Given the description of an element on the screen output the (x, y) to click on. 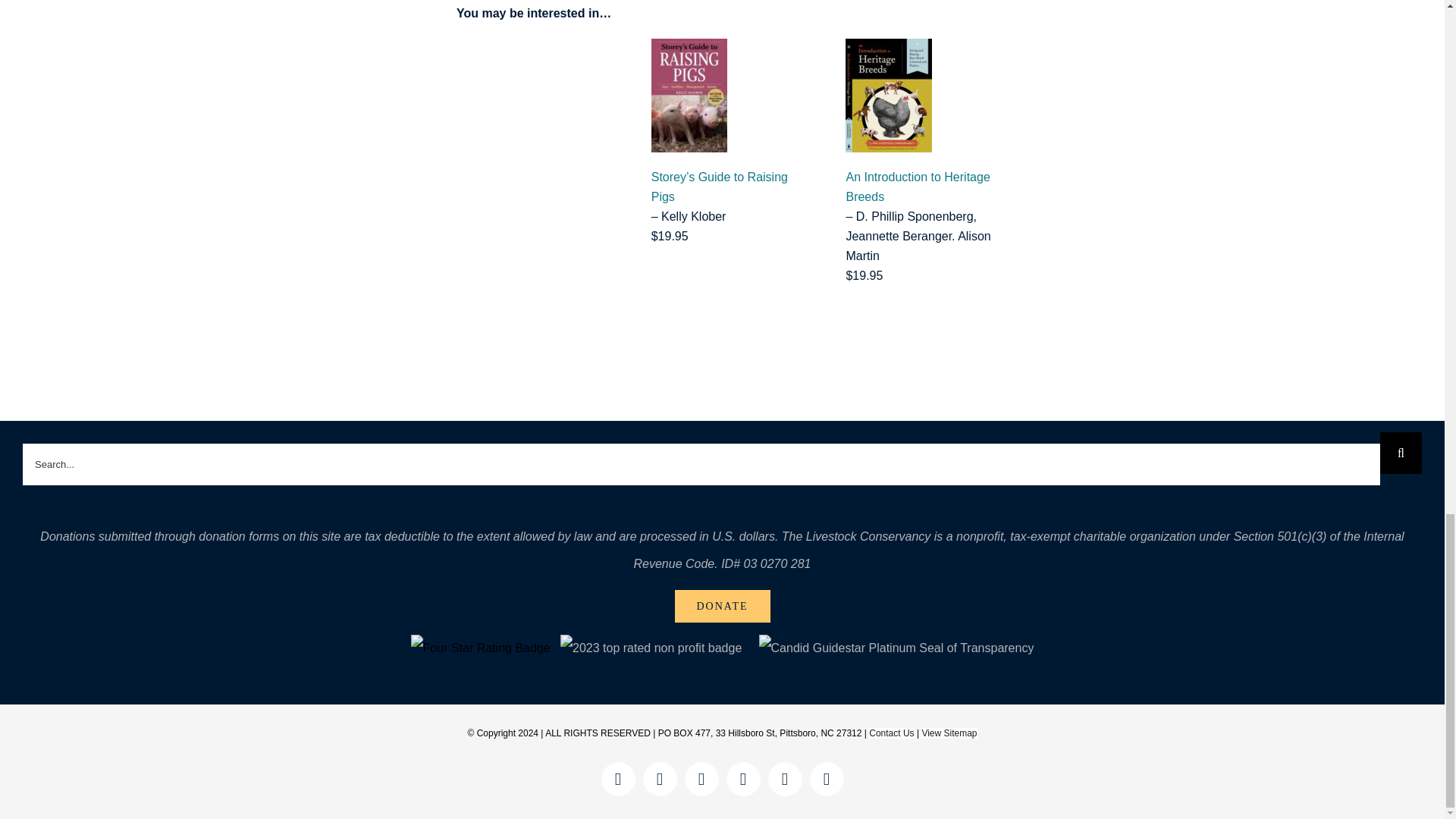
X (700, 779)
Instagram (660, 779)
Facebook (616, 779)
Email (826, 779)
YouTube (743, 779)
Spotify (784, 779)
